Given the description of an element on the screen output the (x, y) to click on. 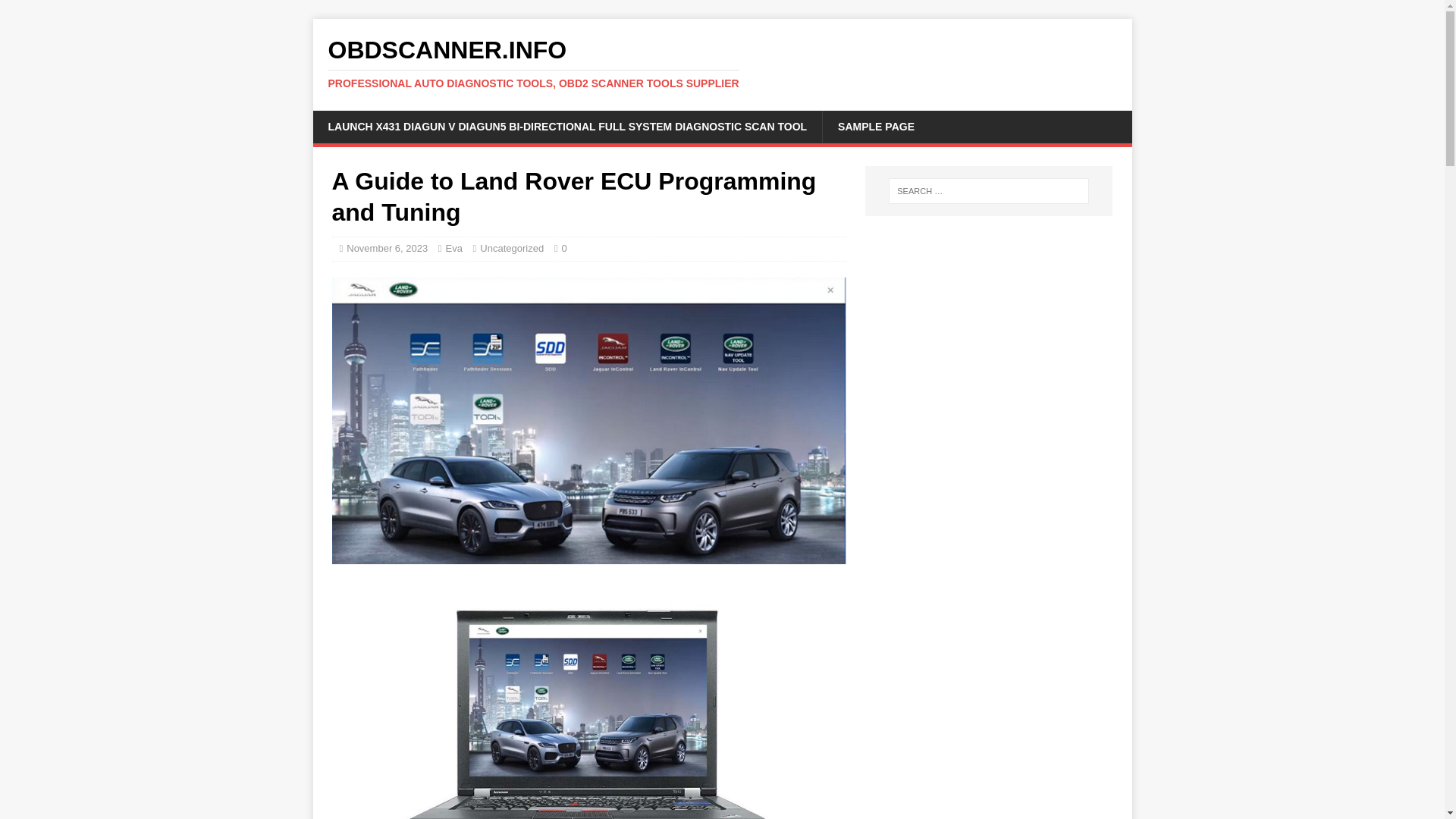
obdscanner.info (721, 63)
Uncategorized (511, 247)
Eva (454, 247)
November 6, 2023 (387, 247)
SAMPLE PAGE (876, 126)
Search (56, 11)
